Given the description of an element on the screen output the (x, y) to click on. 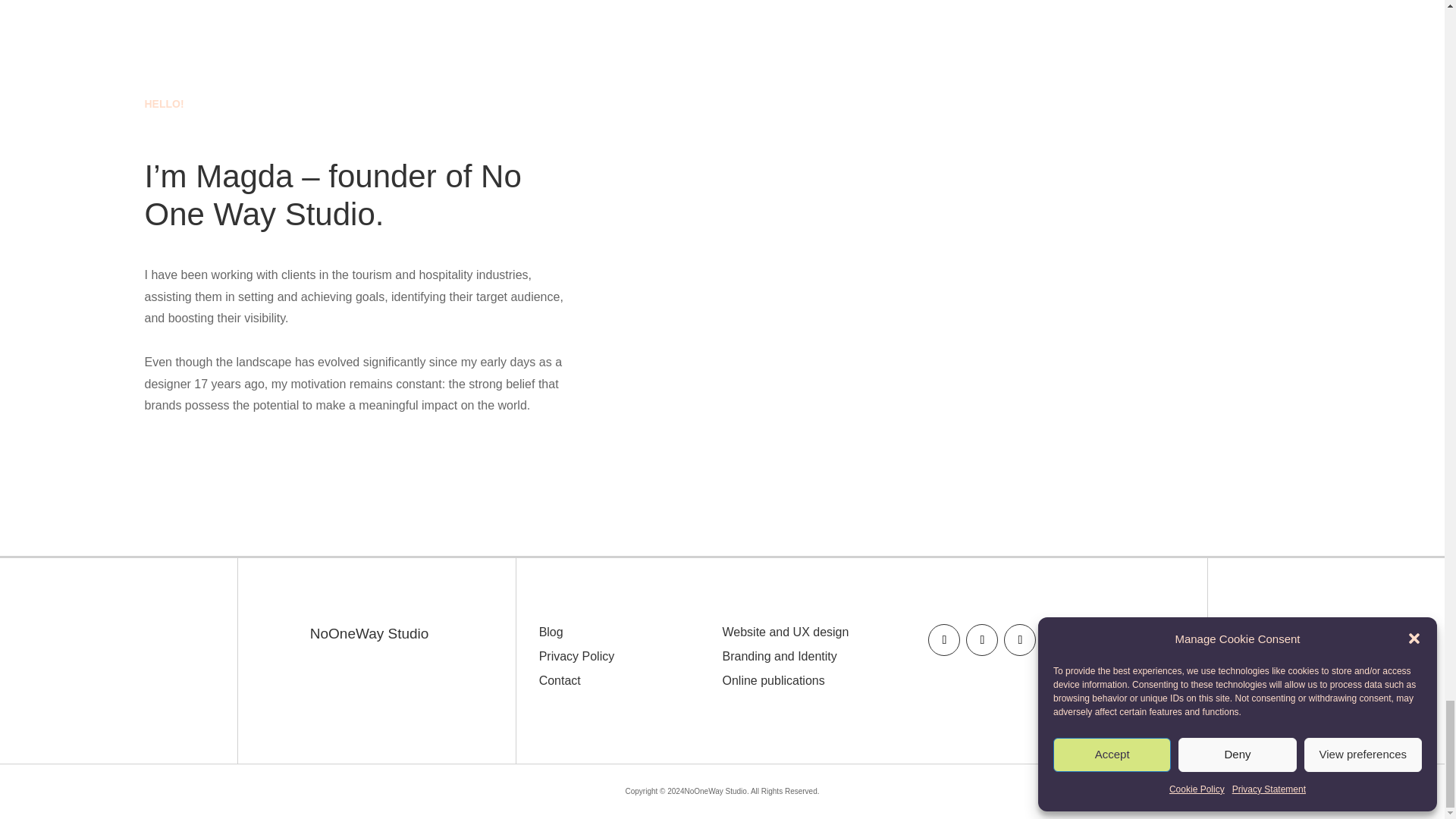
Follow on Facebook (943, 640)
Website and UX design (785, 631)
Follow on LinkedIn (1019, 640)
Follow on Instagram (981, 640)
Online publications (773, 680)
Branding and Identity (778, 656)
